Given the description of an element on the screen output the (x, y) to click on. 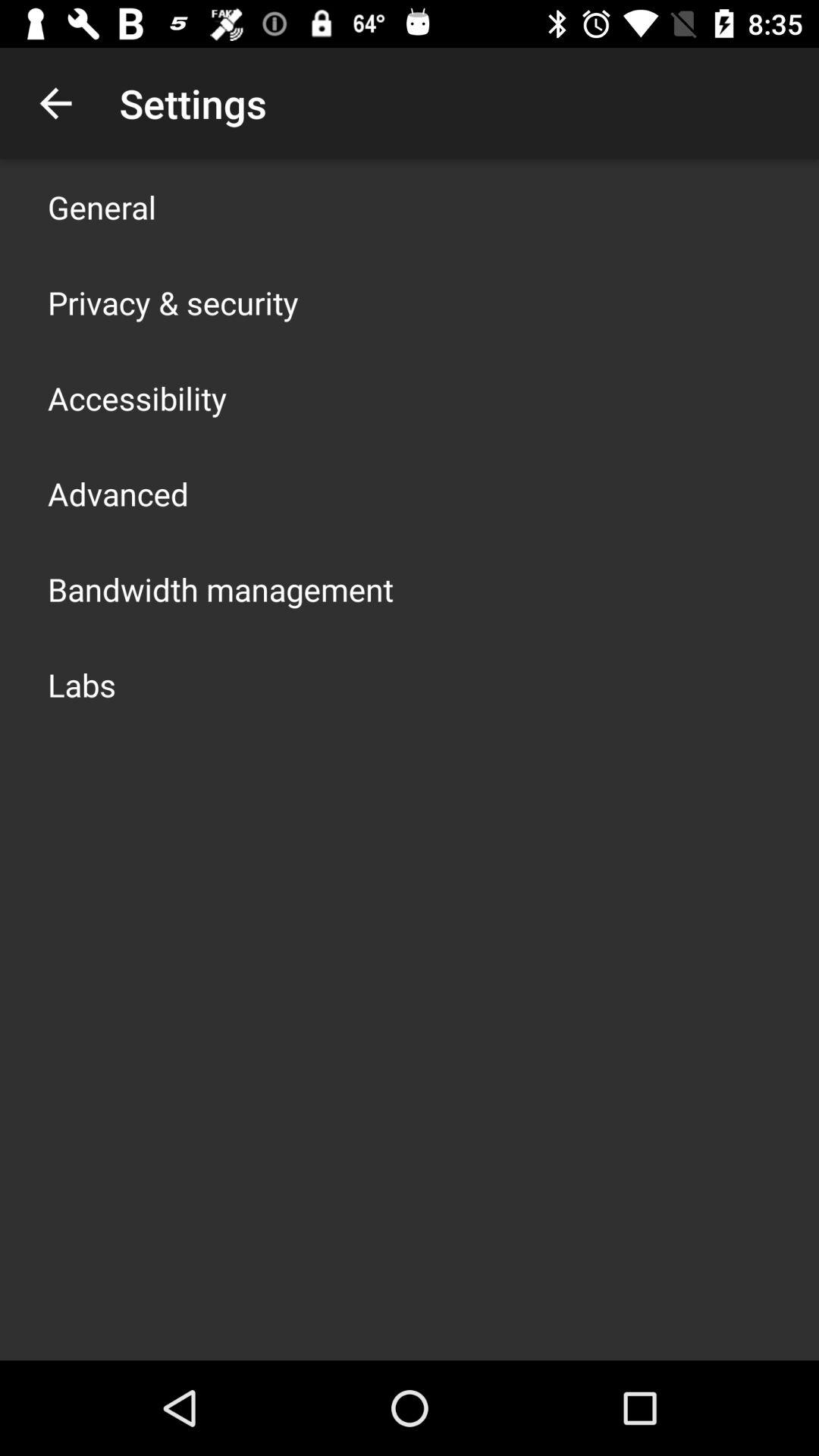
launch the item below the bandwidth management app (81, 684)
